Given the description of an element on the screen output the (x, y) to click on. 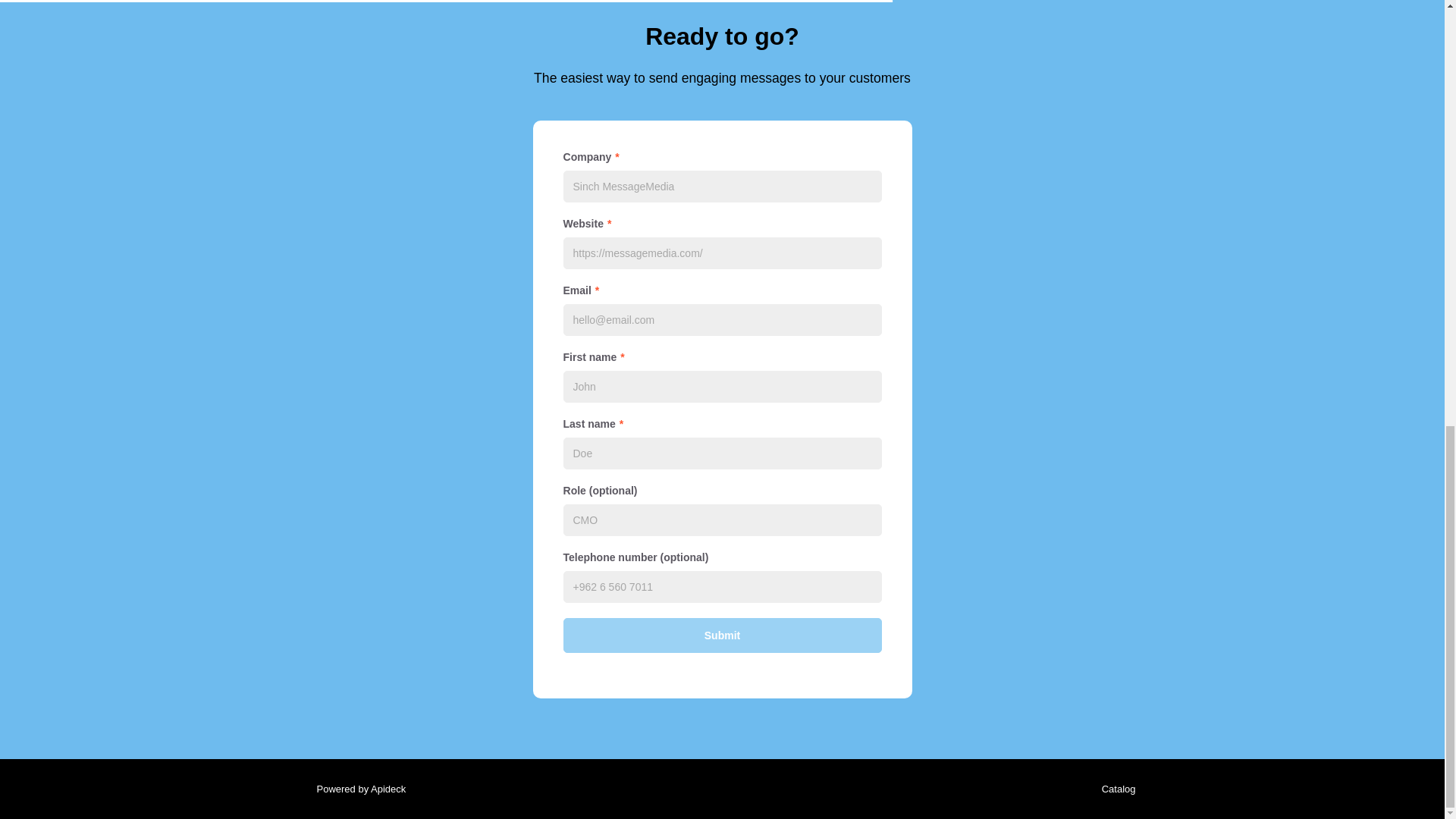
Catalog (1115, 789)
Submit (721, 635)
Powered by Apideck (356, 789)
